Given the description of an element on the screen output the (x, y) to click on. 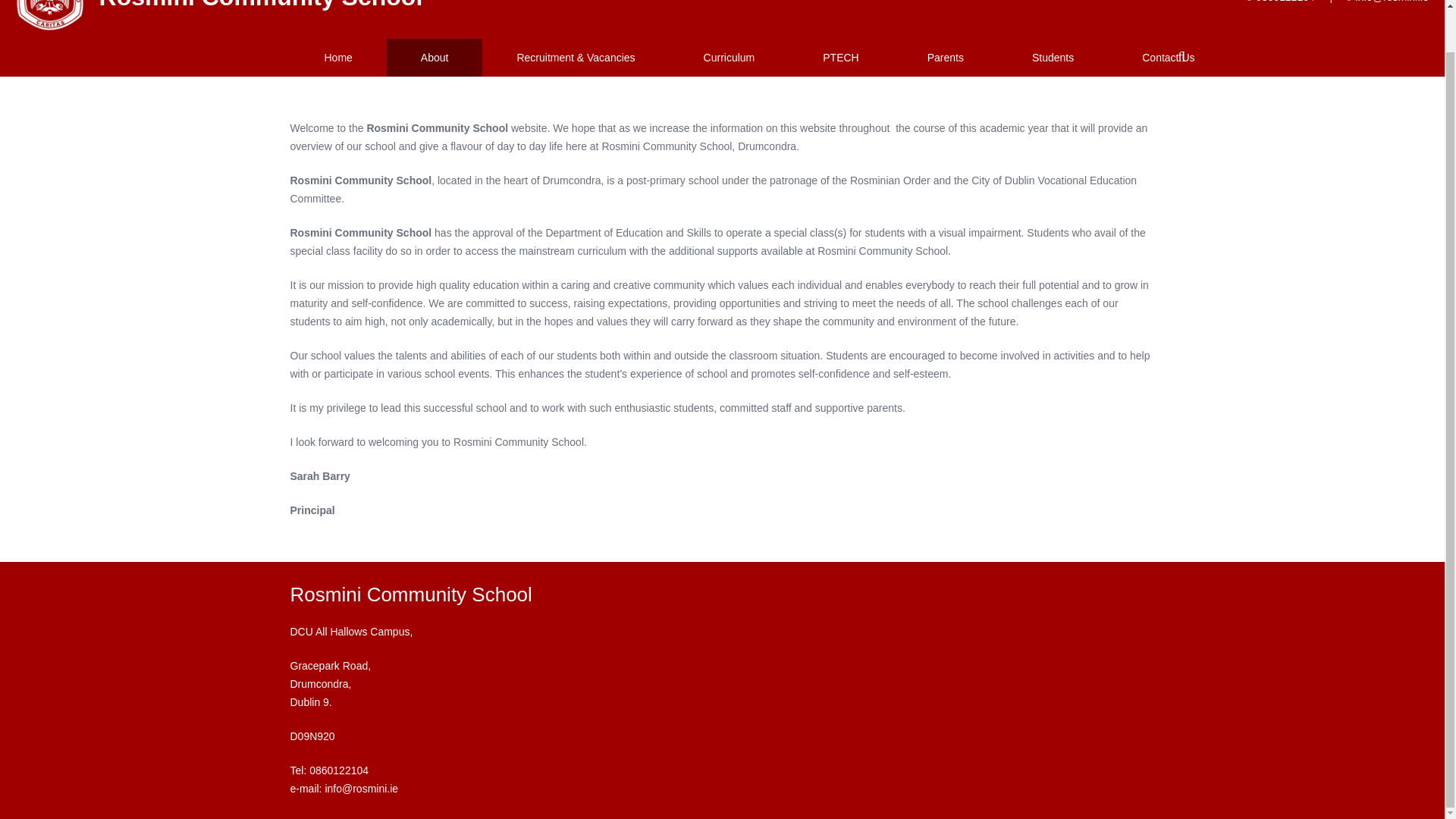
Contact Us (1168, 57)
Curriculum (729, 57)
Home (337, 57)
PTECH (840, 57)
Rosmini Community School (261, 5)
About (435, 57)
Parents (945, 57)
Students (1052, 57)
